Given the description of an element on the screen output the (x, y) to click on. 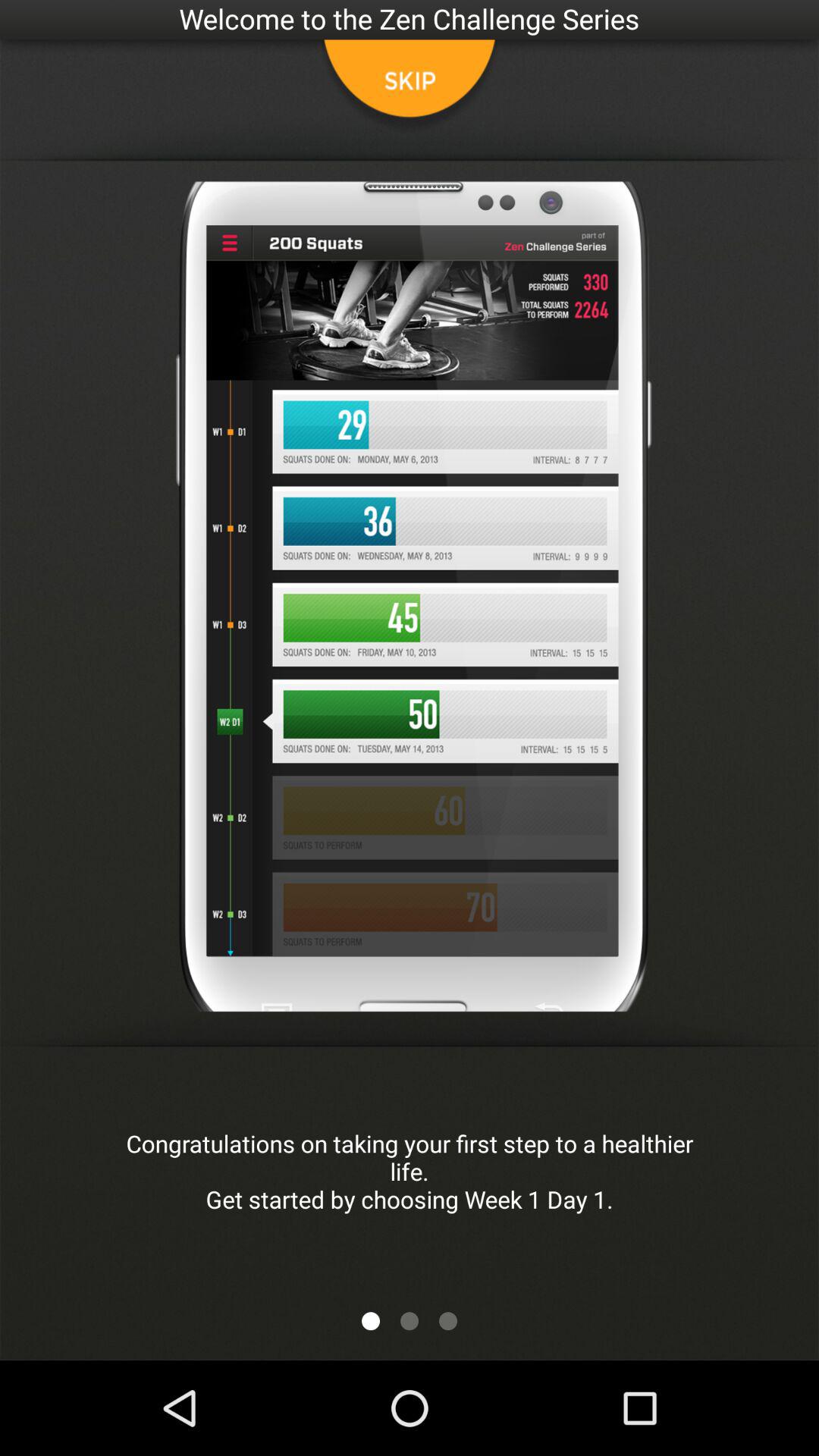
go to 3rd slide (448, 1321)
